Given the description of an element on the screen output the (x, y) to click on. 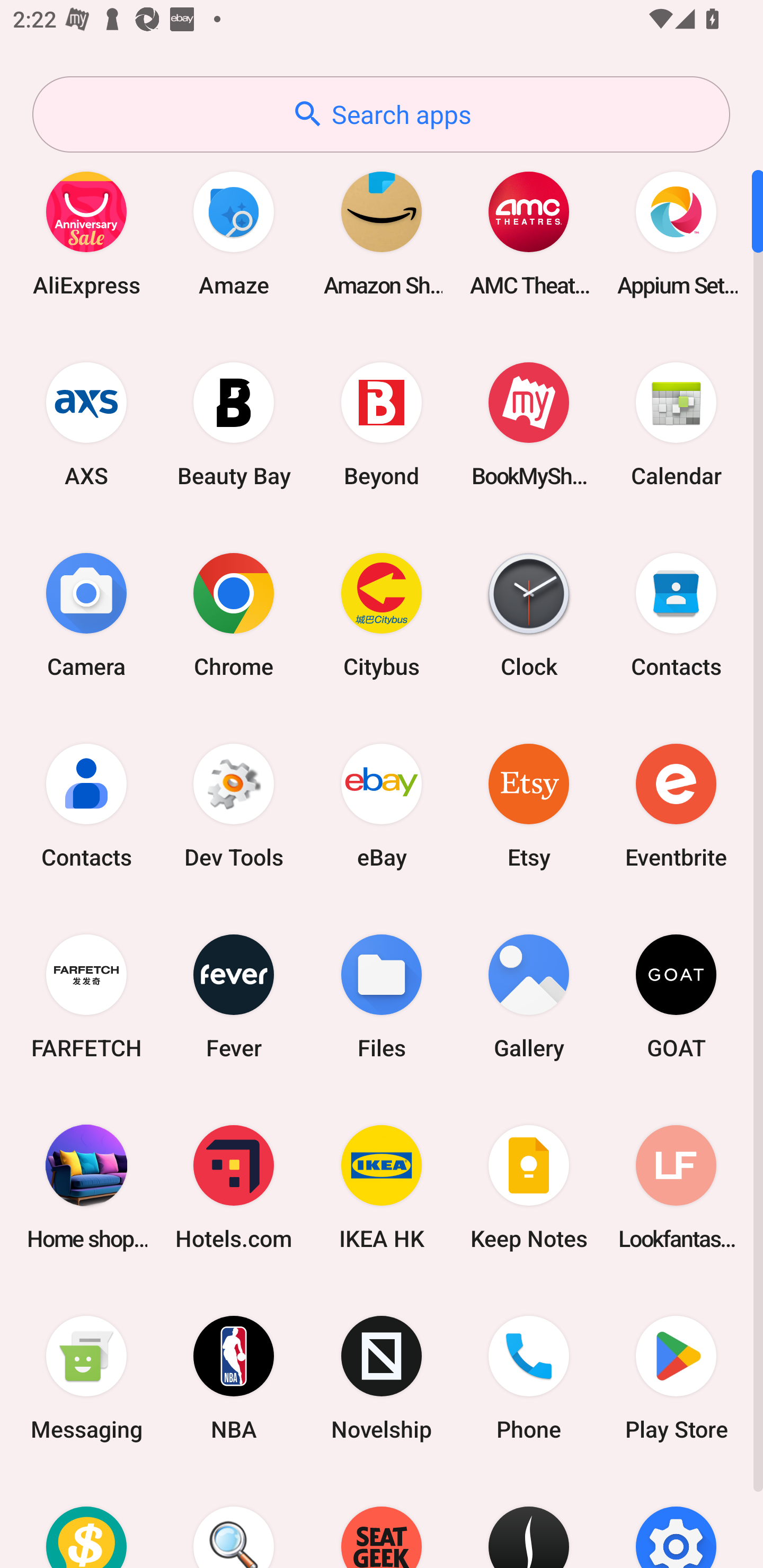
  Search apps (381, 114)
AliExpress (86, 233)
Amaze (233, 233)
Amazon Shopping (381, 233)
AMC Theatres (528, 233)
Appium Settings (676, 233)
AXS (86, 424)
Beauty Bay (233, 424)
Beyond (381, 424)
BookMyShow (528, 424)
Calendar (676, 424)
Camera (86, 614)
Chrome (233, 614)
Citybus (381, 614)
Clock (528, 614)
Contacts (676, 614)
Contacts (86, 805)
Dev Tools (233, 805)
eBay (381, 805)
Etsy (528, 805)
Eventbrite (676, 805)
FARFETCH (86, 996)
Fever (233, 996)
Files (381, 996)
Gallery (528, 996)
GOAT (676, 996)
Home shopping (86, 1186)
Hotels.com (233, 1186)
IKEA HK (381, 1186)
Keep Notes (528, 1186)
Lookfantastic (676, 1186)
Messaging (86, 1377)
NBA (233, 1377)
Novelship (381, 1377)
Phone (528, 1377)
Play Store (676, 1377)
